Given the description of an element on the screen output the (x, y) to click on. 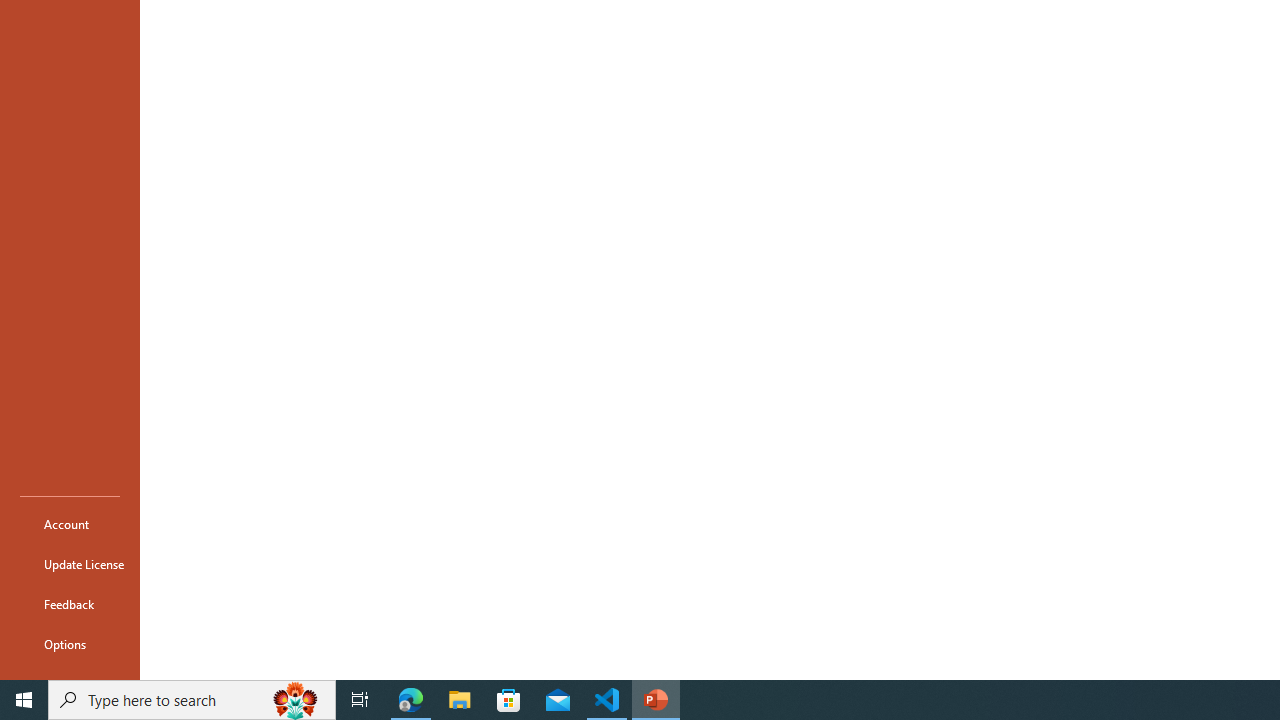
Update License (69, 563)
Account (69, 523)
Options (69, 643)
Feedback (69, 603)
